Given the description of an element on the screen output the (x, y) to click on. 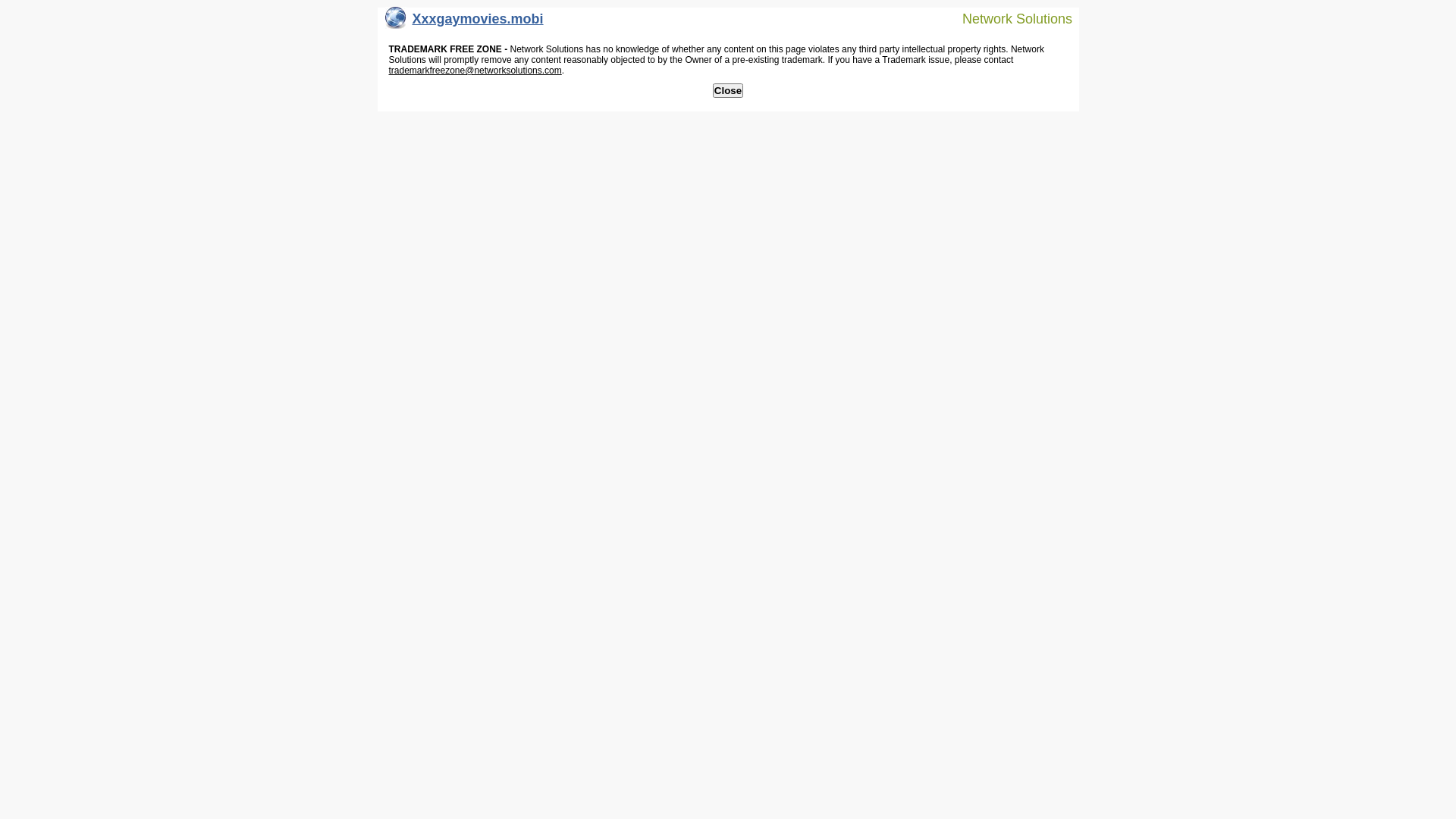
Network Solutions Element type: text (1007, 17)
Xxxgaymovies.mobi Element type: text (464, 21)
Close Element type: text (727, 90)
trademarkfreezone@networksolutions.com Element type: text (474, 70)
